Given the description of an element on the screen output the (x, y) to click on. 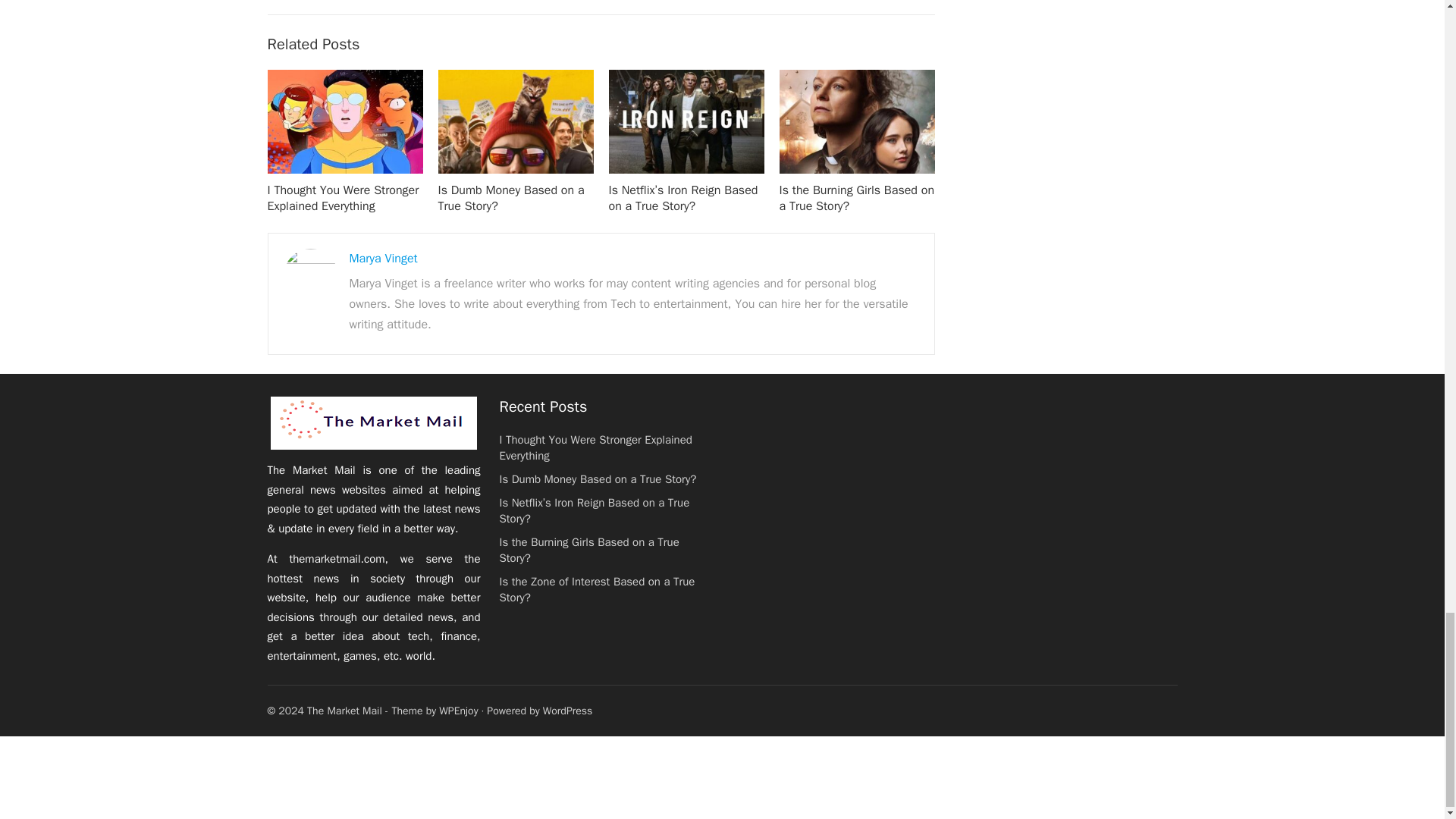
Marya Vinget (382, 258)
Is the Burning Girls Based on a True Story? (856, 197)
Is Dumb Money Based on a True Story? (511, 197)
I Thought You Were Stronger Explained Everything (342, 197)
